Given the description of an element on the screen output the (x, y) to click on. 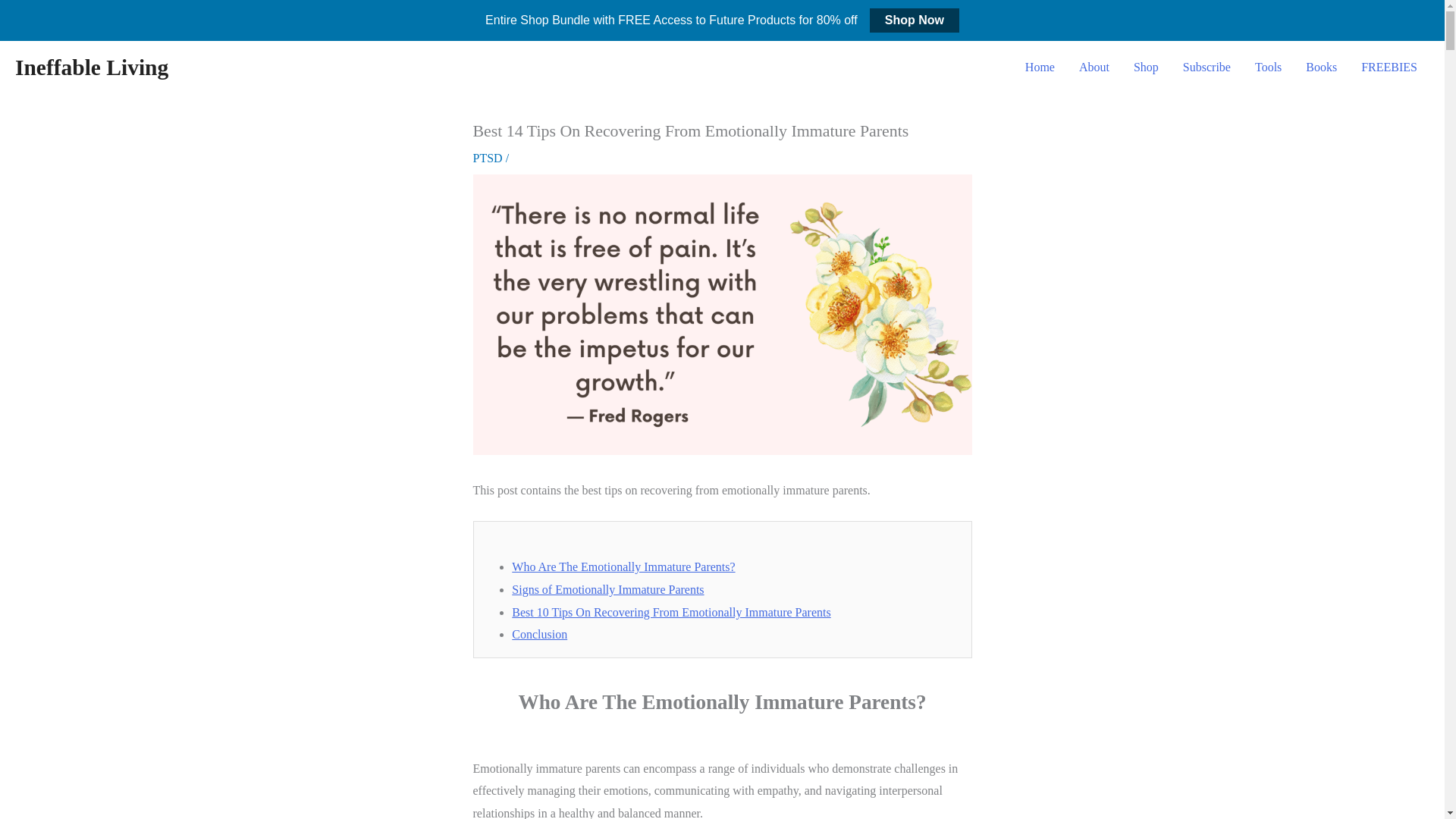
Who Are The Emotionally Immature Parents? (623, 566)
Conclusion (539, 634)
FREEBIES (1389, 67)
Home (1040, 67)
Books (1321, 67)
Shop (1145, 67)
Signs of Emotionally Immature Parents (607, 589)
Best 10 Tips On Recovering From Emotionally Immature Parents (670, 612)
Subscribe (1206, 67)
Shop Now (914, 20)
PTSD (487, 157)
Tools (1268, 67)
About (1094, 67)
